Given the description of an element on the screen output the (x, y) to click on. 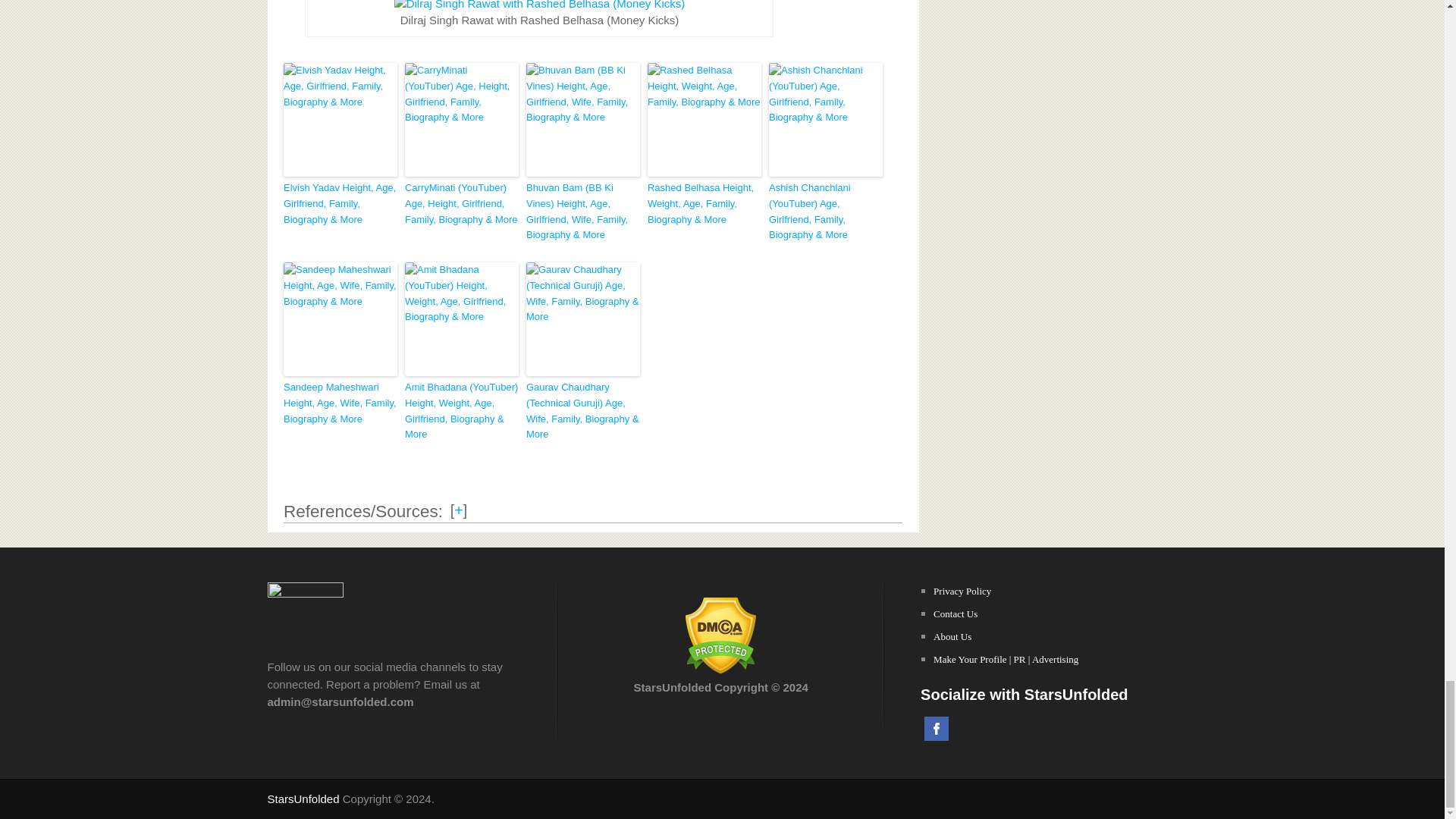
Facebook (936, 728)
Instagram (1031, 728)
Star's Secrets Unfolded (302, 798)
Twitter (967, 728)
DMCA.com Protection Status (720, 669)
YouTube (999, 728)
